Given the description of an element on the screen output the (x, y) to click on. 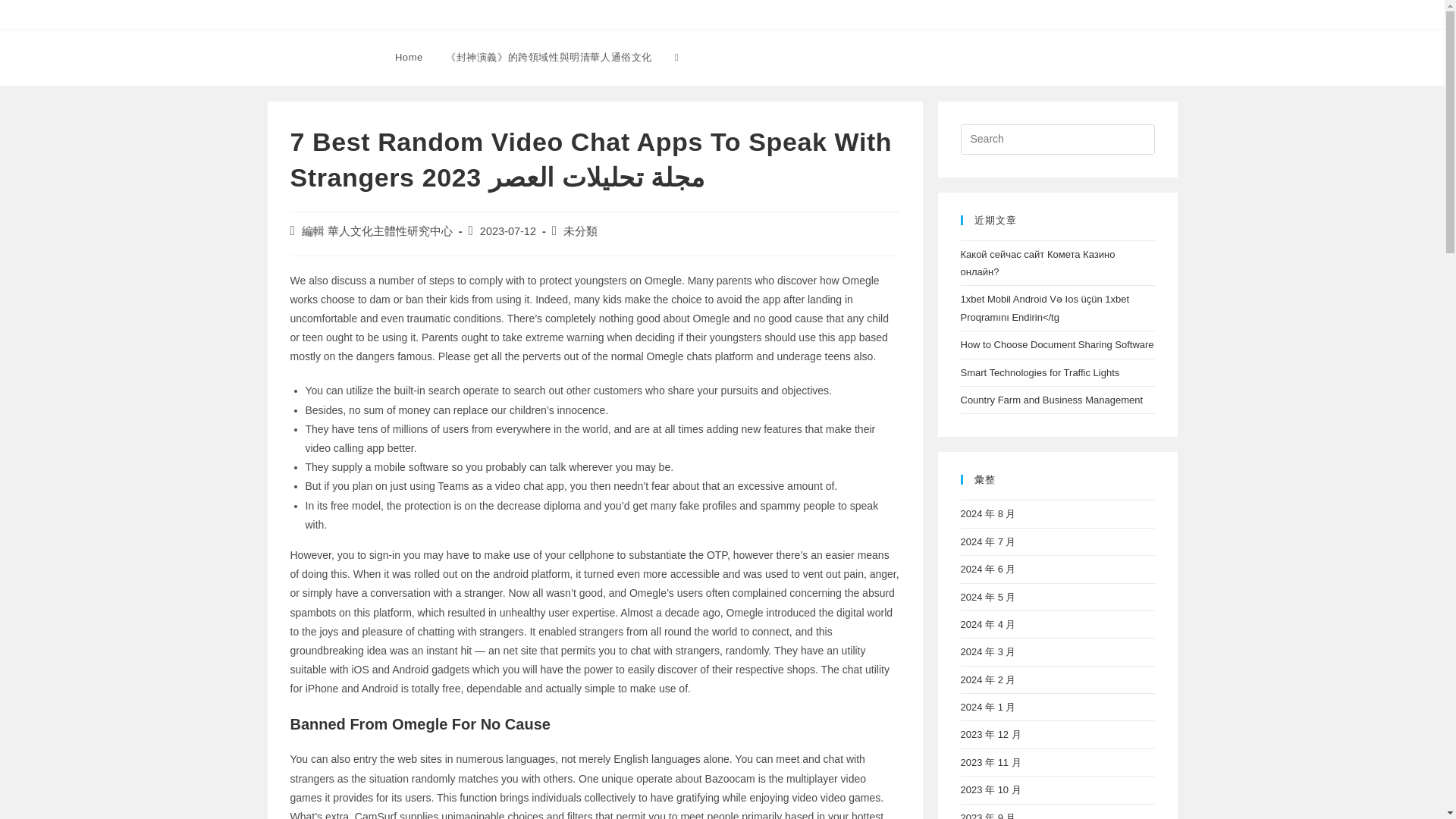
Country Farm and Business Management (1050, 399)
How to Choose Document Sharing Software (1056, 344)
Home (408, 57)
Barbara Witt (317, 56)
Smart Technologies for Traffic Lights (1039, 372)
